Given the description of an element on the screen output the (x, y) to click on. 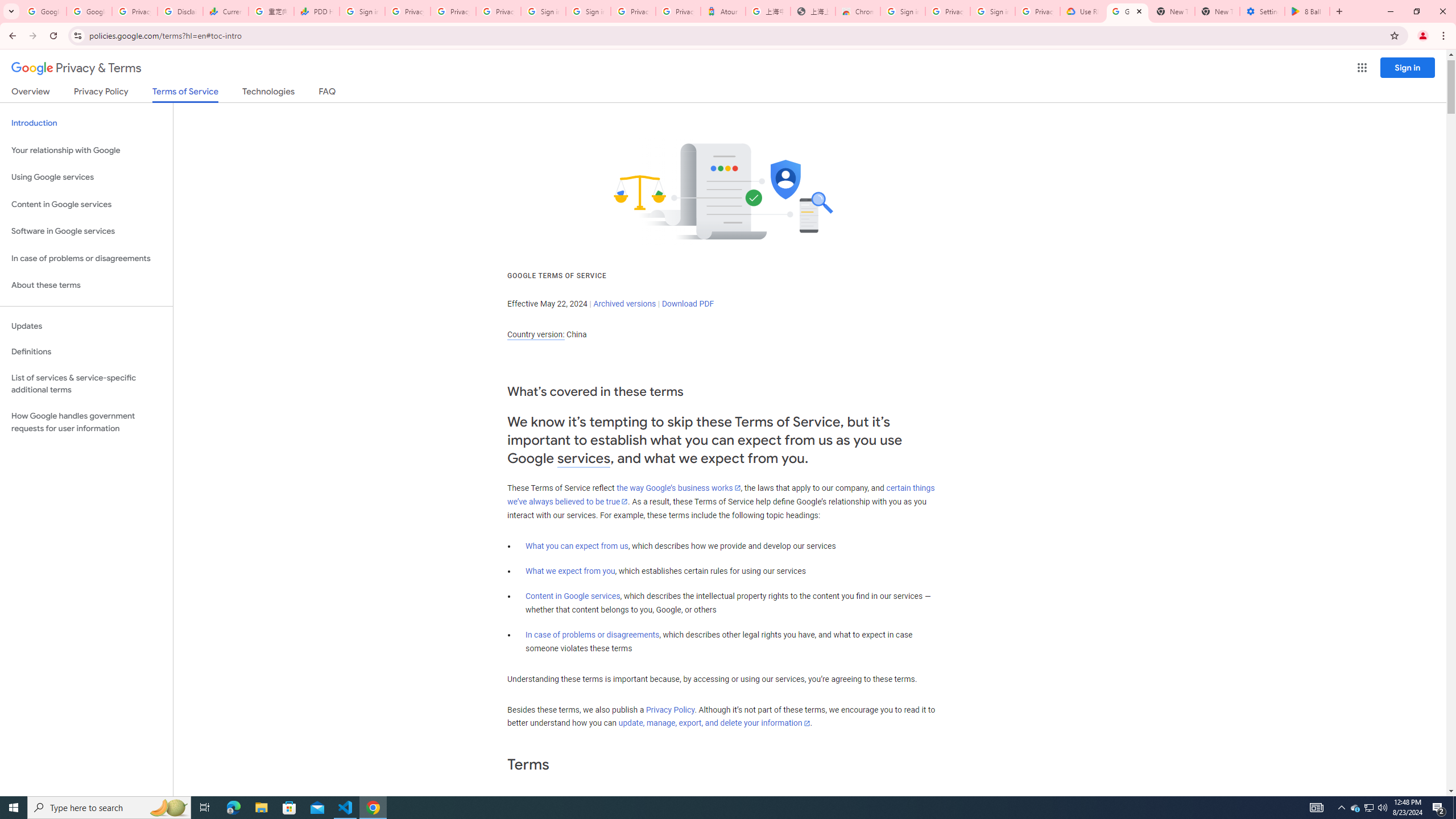
In case of problems or disagreements (592, 634)
Chrome Web Store - Color themes by Chrome (857, 11)
update, manage, export, and delete your information (714, 723)
What we expect from you (570, 570)
Sign in - Google Accounts (542, 11)
